Given the description of an element on the screen output the (x, y) to click on. 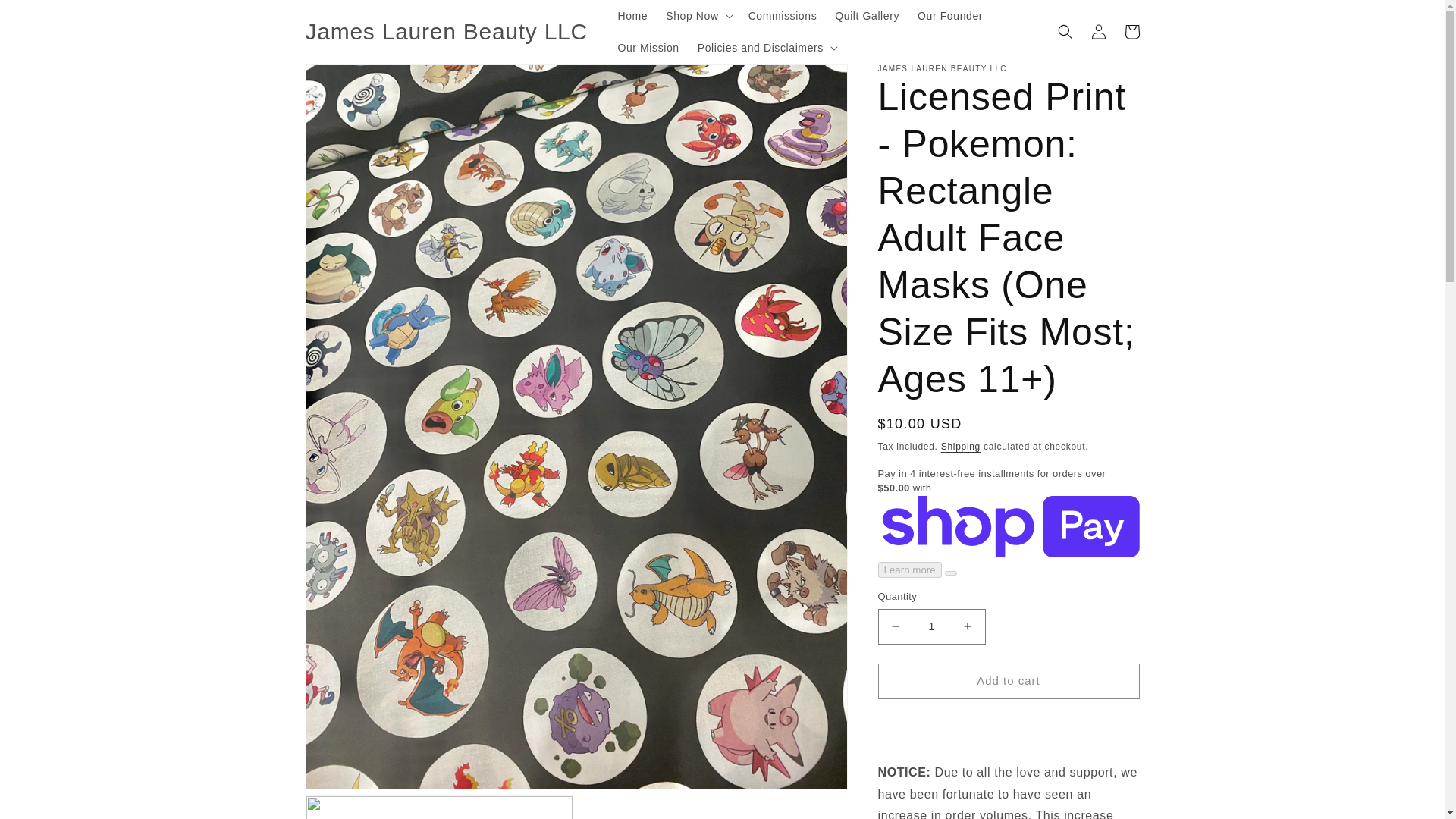
1 (931, 626)
James Lauren Beauty LLC (445, 32)
Log in (1098, 31)
Cart (1131, 31)
Our Mission (647, 47)
Home (632, 15)
Commissions (783, 15)
Quilt Gallery (866, 15)
Skip to content (45, 17)
Our Founder (949, 15)
